Given the description of an element on the screen output the (x, y) to click on. 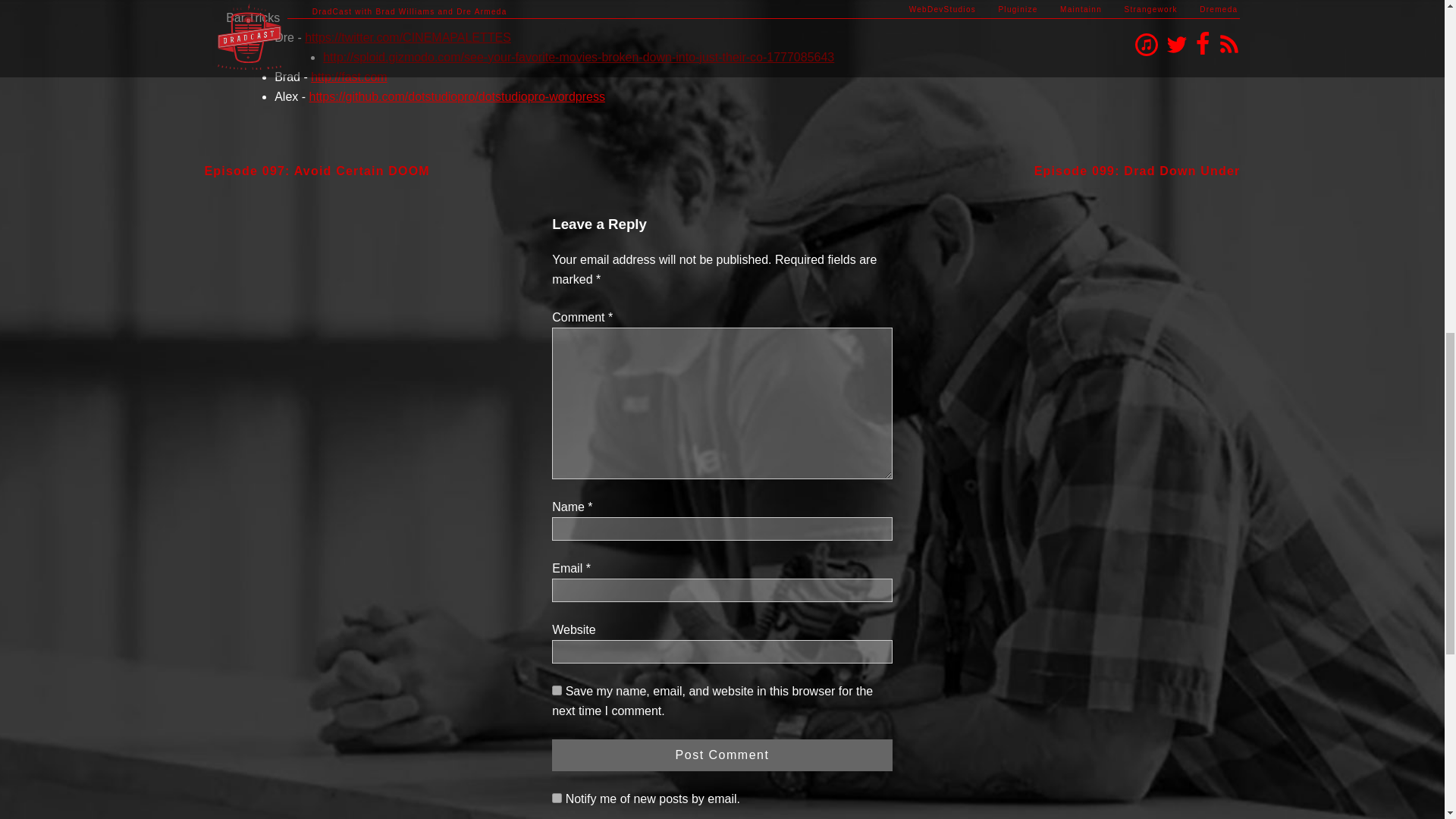
Post Comment (721, 755)
Episode 097: Avoid Certain DOOM (317, 170)
Episode 099: Drad Down Under (1136, 170)
yes (556, 690)
subscribe (556, 798)
Post Comment (721, 755)
